Given the description of an element on the screen output the (x, y) to click on. 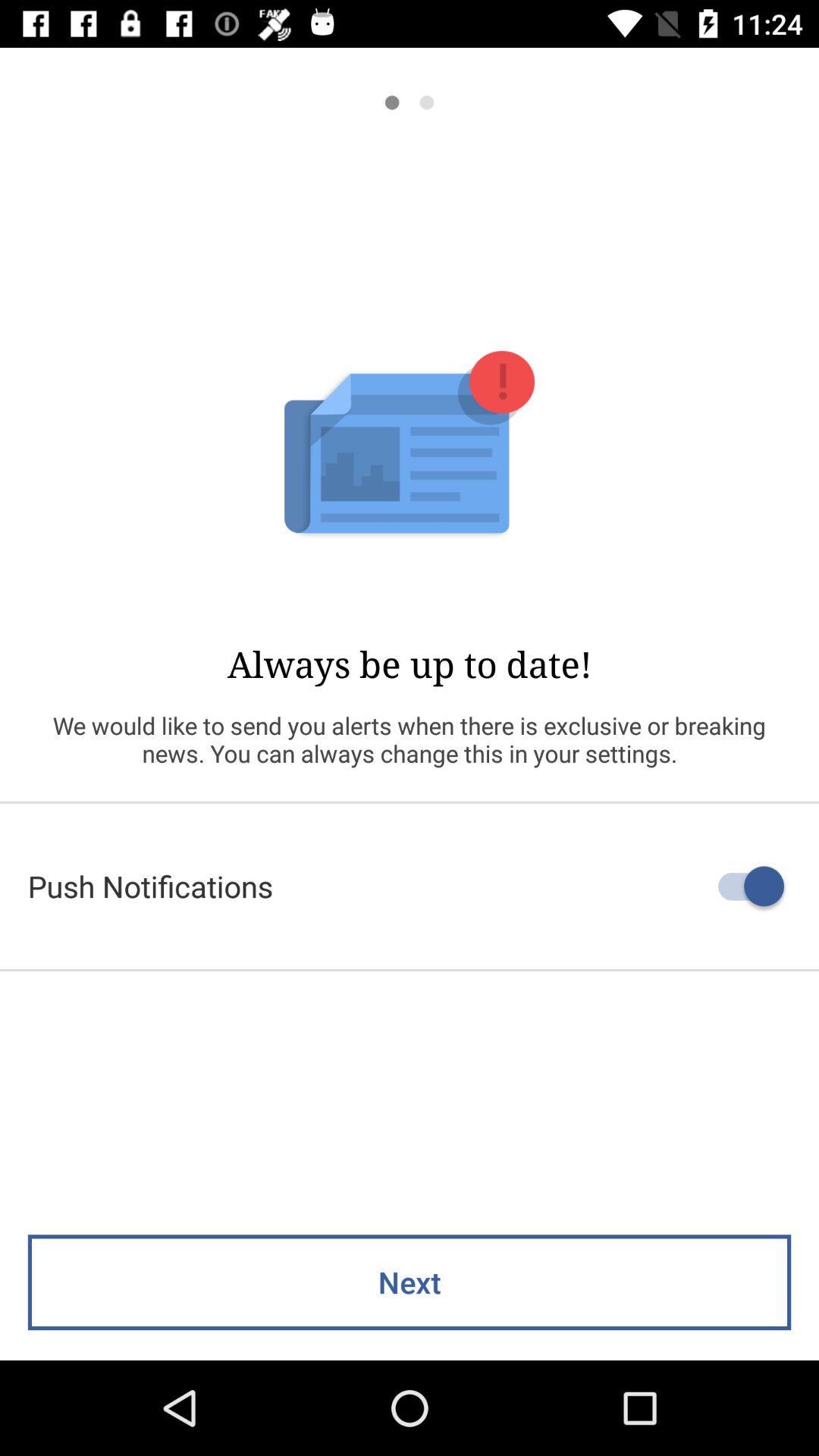
turn on next (409, 1282)
